Given the description of an element on the screen output the (x, y) to click on. 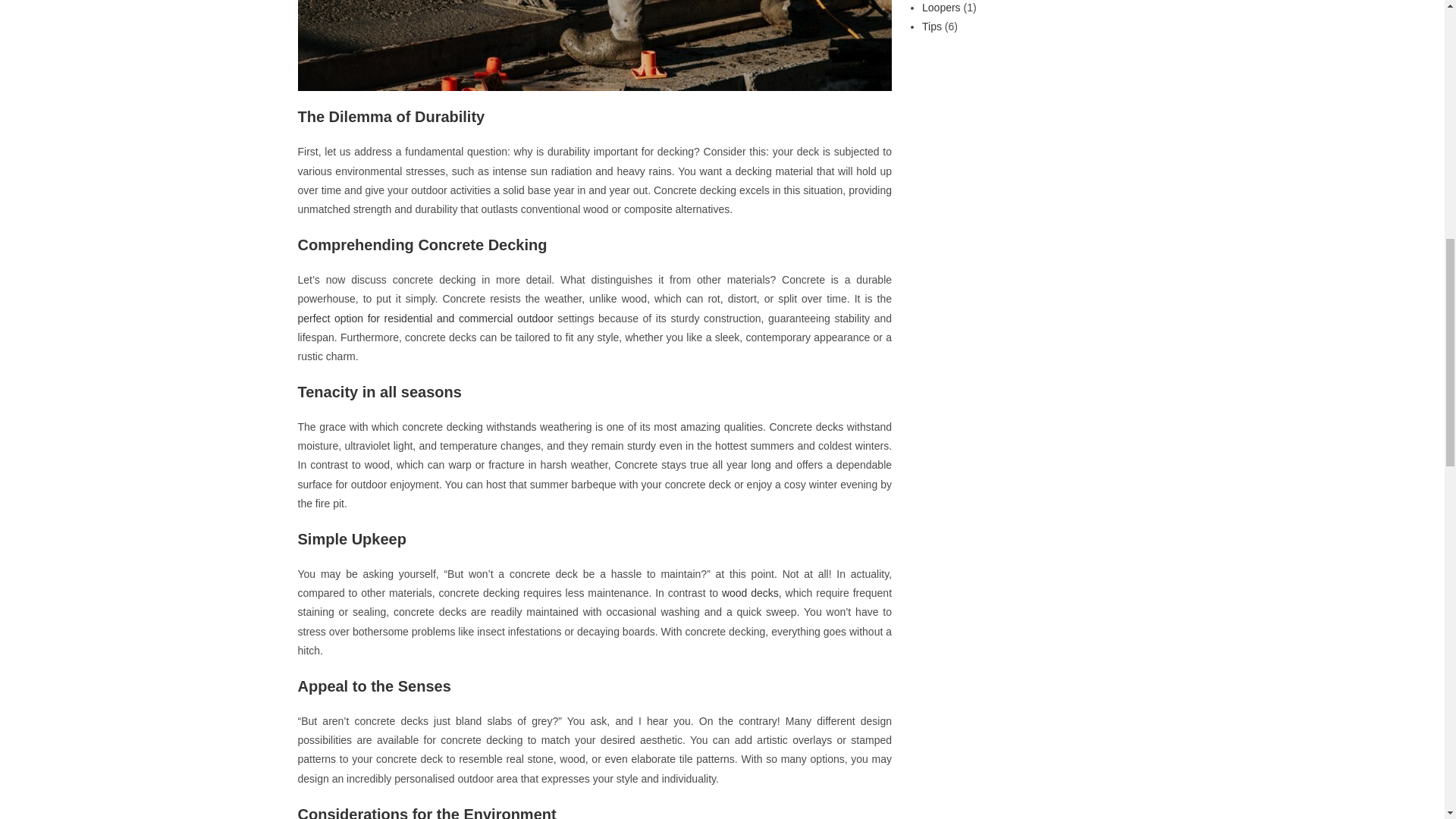
Loopers (940, 7)
perfect option for residential and commercial outdoor (425, 318)
Tips (931, 26)
wood decks (750, 592)
